Given the description of an element on the screen output the (x, y) to click on. 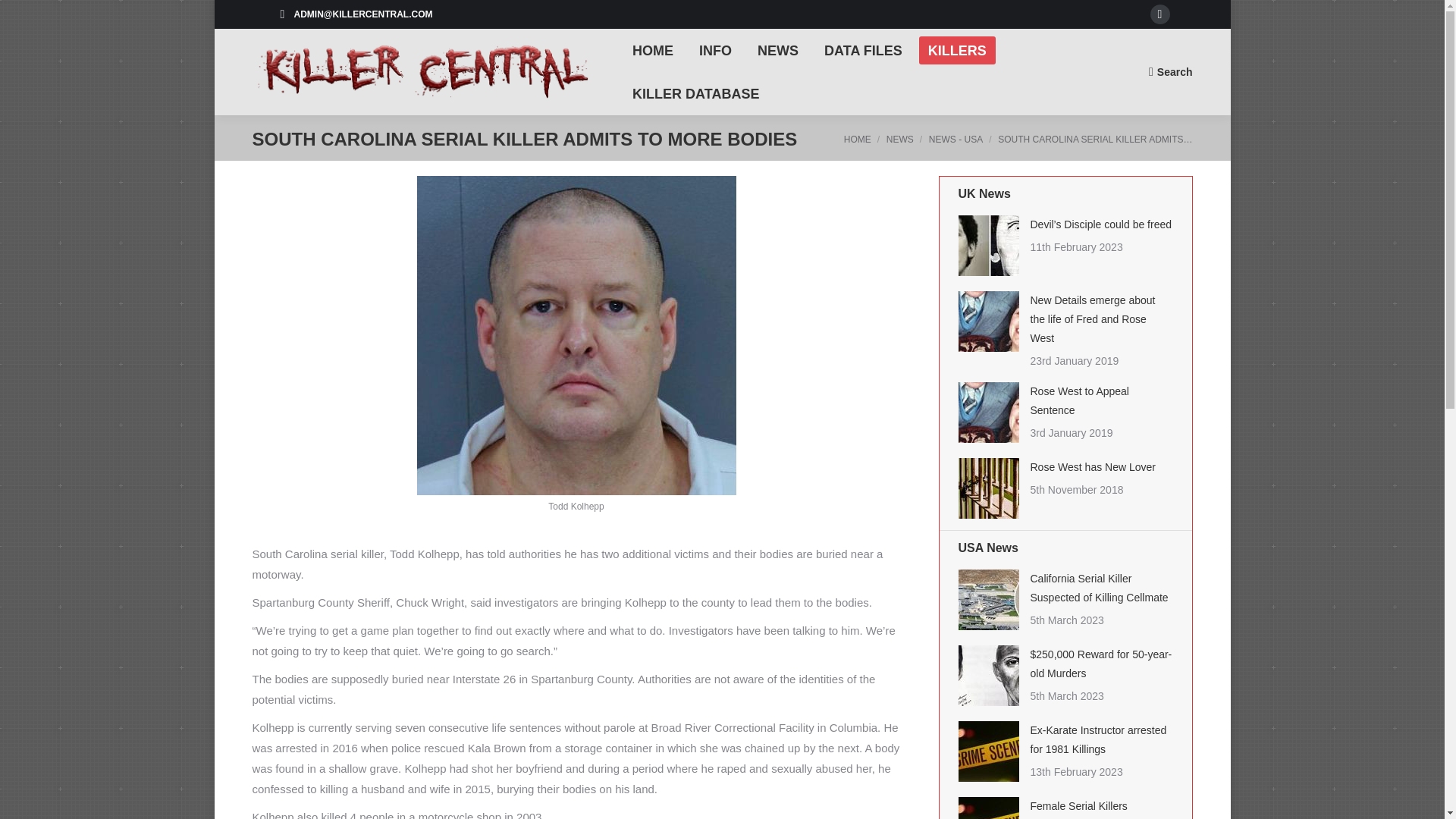
DATA FILES (863, 50)
Facebook page opens in new window (1159, 14)
HOME (652, 50)
KILLER DATABASE (695, 93)
INFO (715, 50)
Todd Kolhepp (576, 335)
News (900, 139)
Go! (22, 15)
News - USA (955, 139)
Home (857, 139)
NEWS (778, 50)
Facebook page opens in new window (1159, 14)
KILLERS (956, 50)
Search (1170, 71)
